Given the description of an element on the screen output the (x, y) to click on. 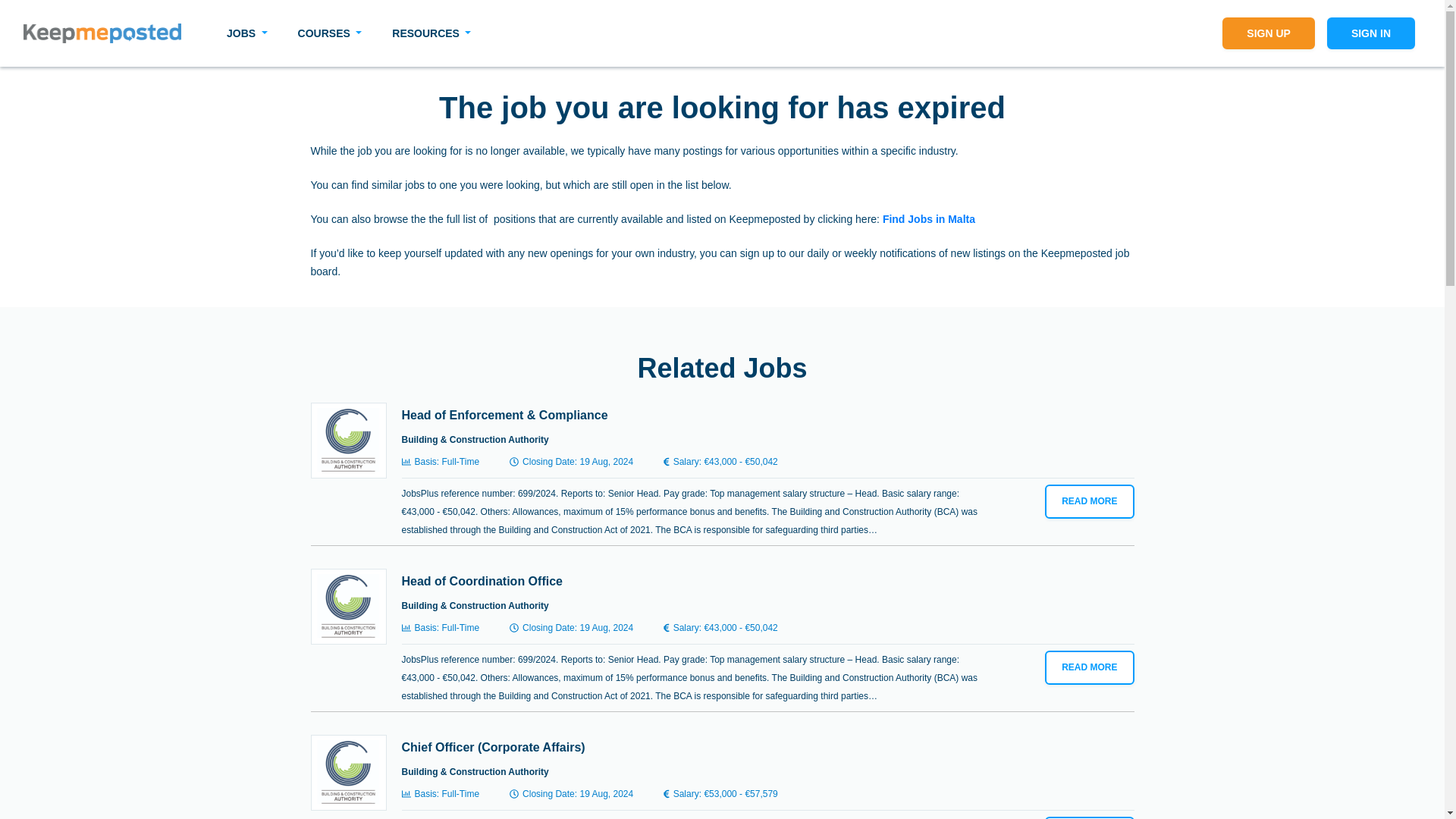
COURSES (329, 33)
SIGN UP (1268, 33)
Jobs (246, 33)
READ MORE (1089, 501)
READ MORE (1089, 817)
Sign In (1370, 33)
SIGN IN (1370, 33)
Head of Coordination Office (481, 581)
JOBS (246, 33)
Find Jobs in Malta (928, 218)
READ MORE (1089, 667)
KeepMePosted (101, 32)
Resources (431, 33)
Sign Up (1268, 33)
RESOURCES (431, 33)
